Given the description of an element on the screen output the (x, y) to click on. 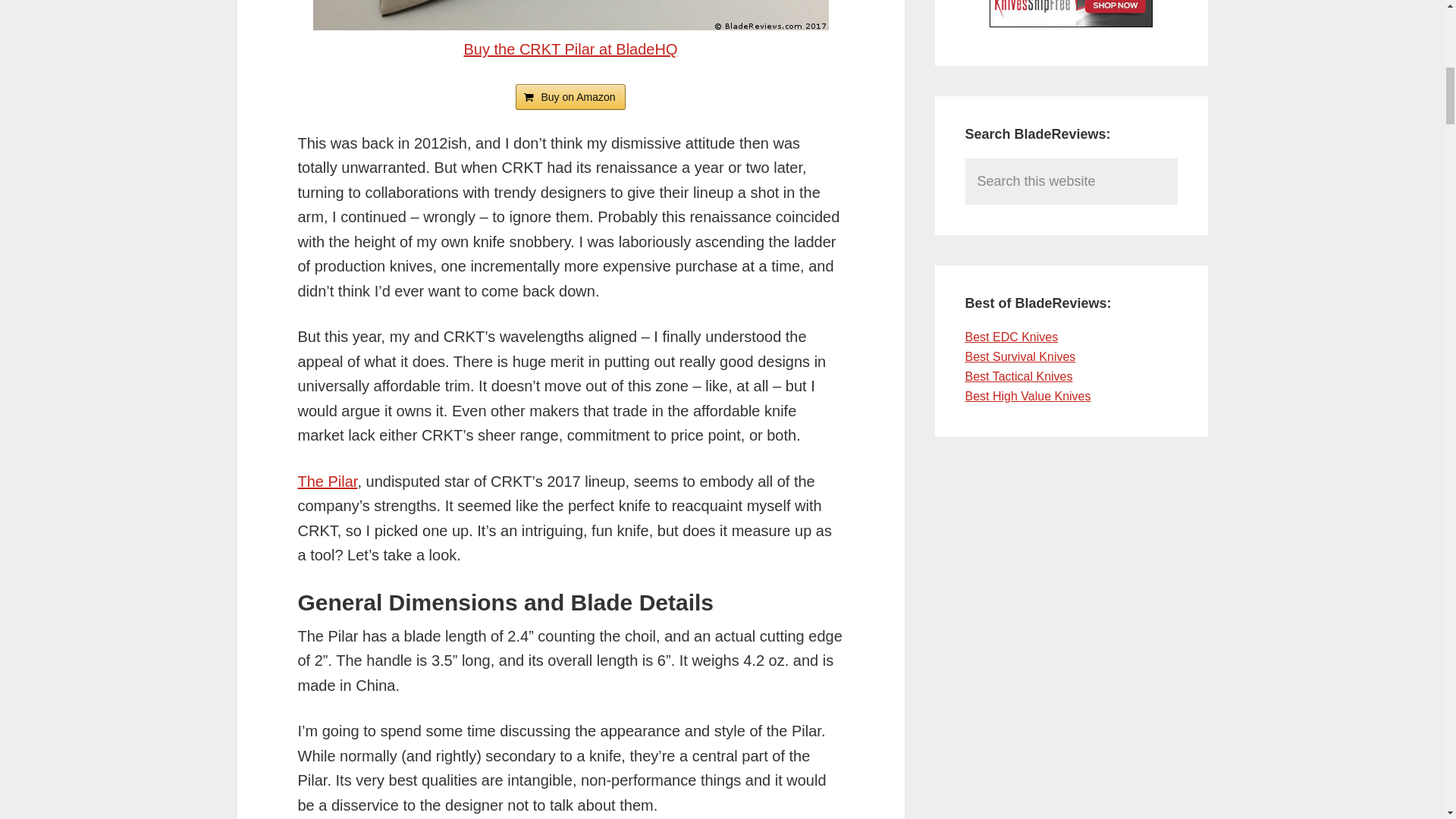
Buy on Amazon (569, 96)
